Given the description of an element on the screen output the (x, y) to click on. 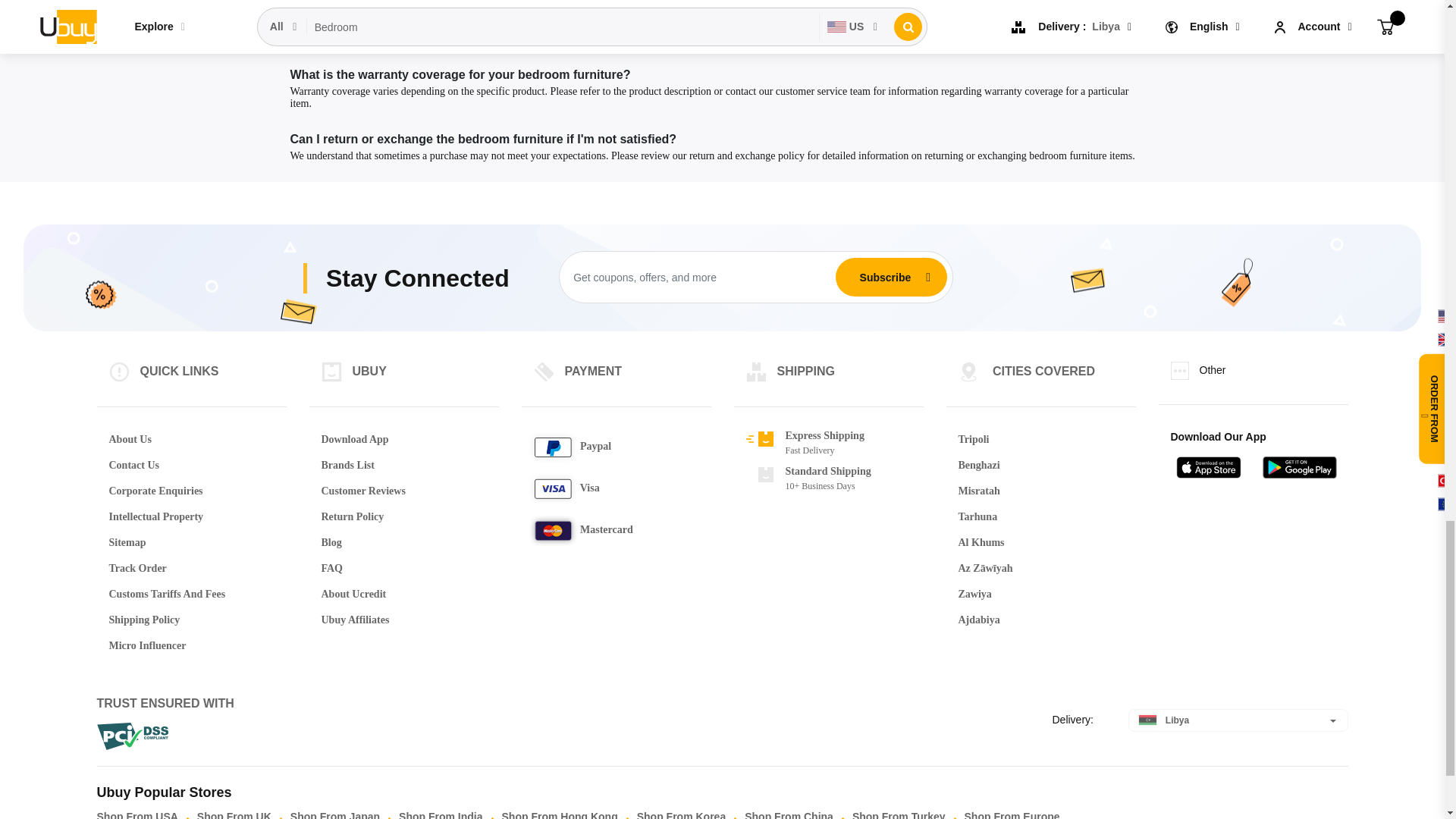
Subscribe (885, 277)
